Given the description of an element on the screen output the (x, y) to click on. 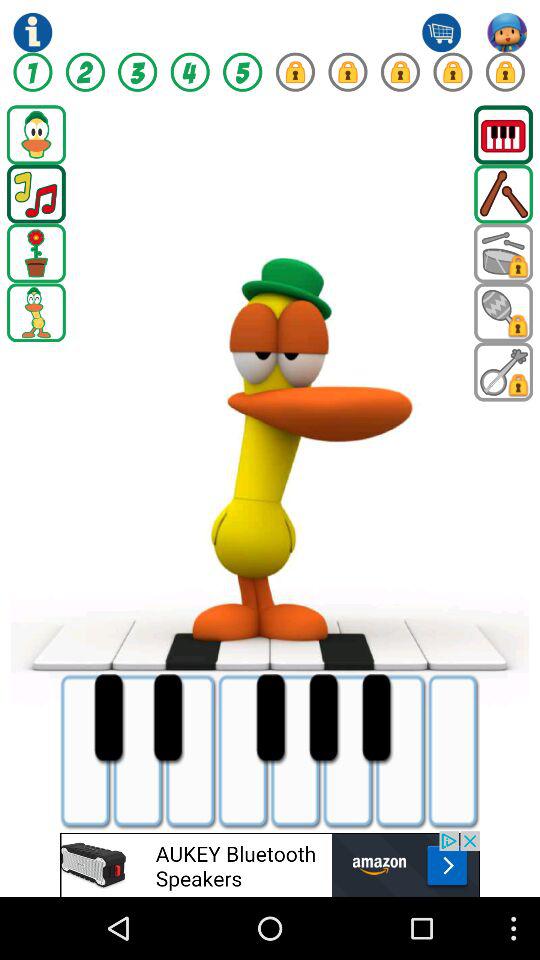
profile (507, 32)
